Given the description of an element on the screen output the (x, y) to click on. 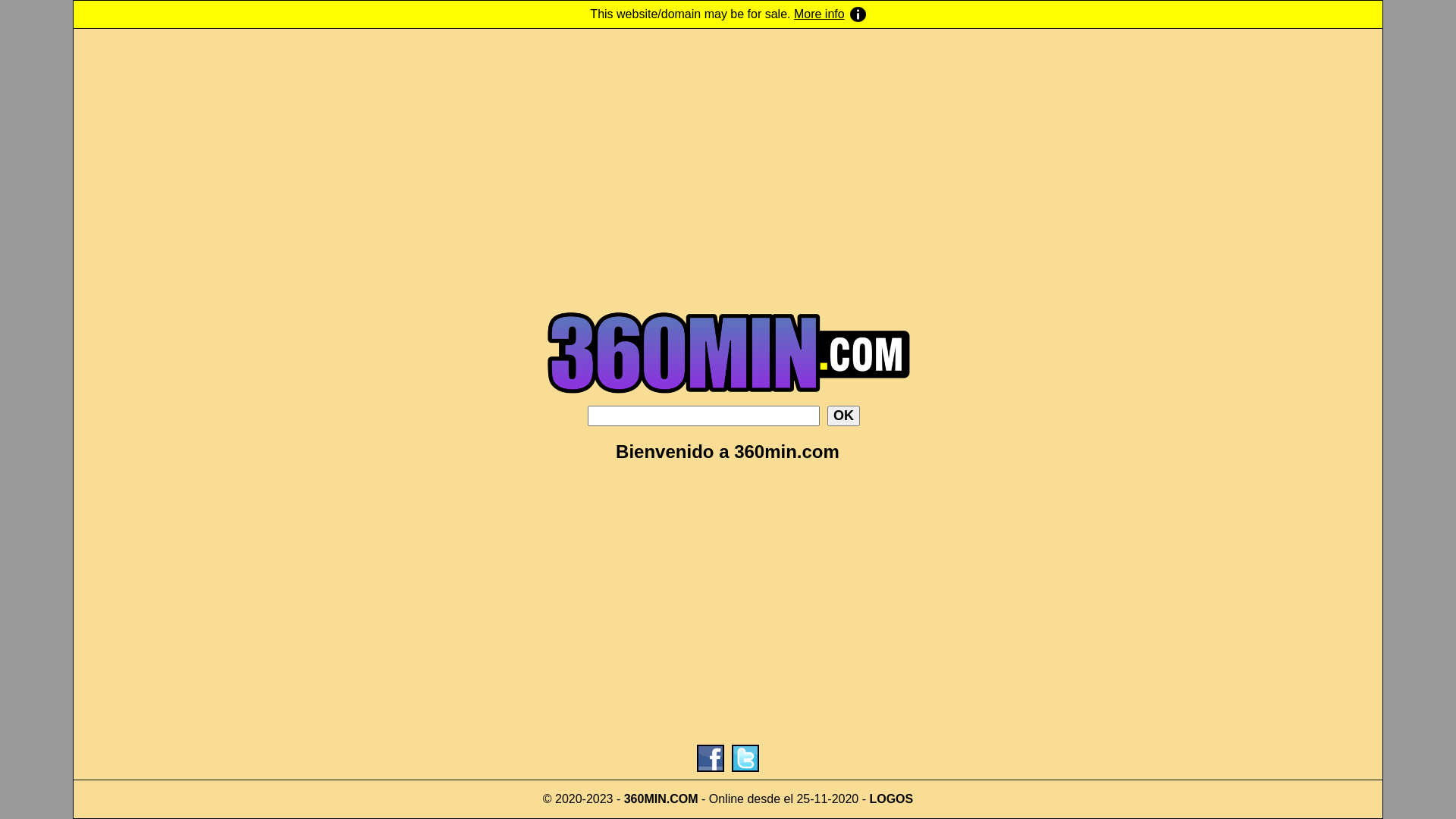
twitter Element type: hover (745, 757)
More info Element type: text (829, 13)
LOGOS Element type: text (891, 798)
360MIN.COM Element type: hover (727, 401)
facebook Element type: hover (710, 757)
OK Element type: text (843, 415)
360MIN Element type: text (645, 798)
